Given the description of an element on the screen output the (x, y) to click on. 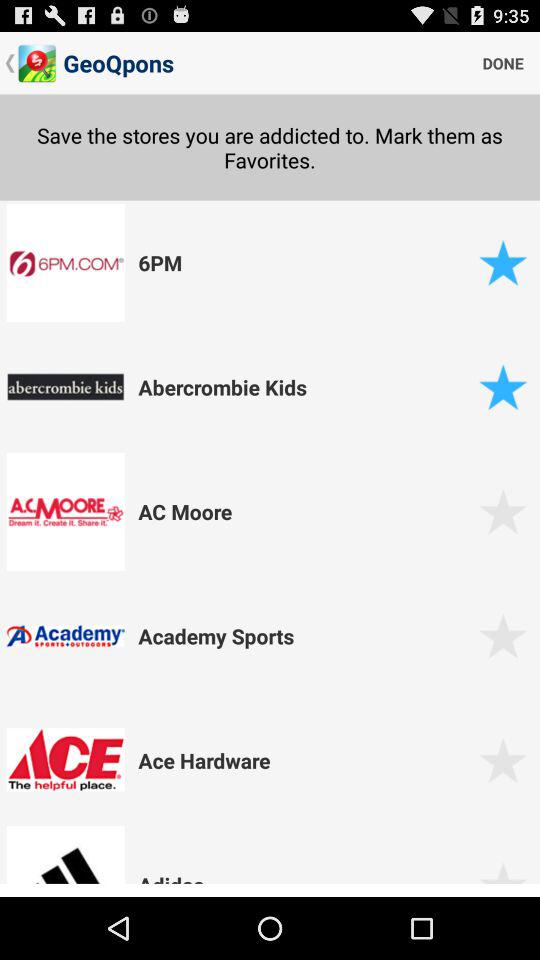
turn on the app below the save the stores icon (305, 262)
